Given the description of an element on the screen output the (x, y) to click on. 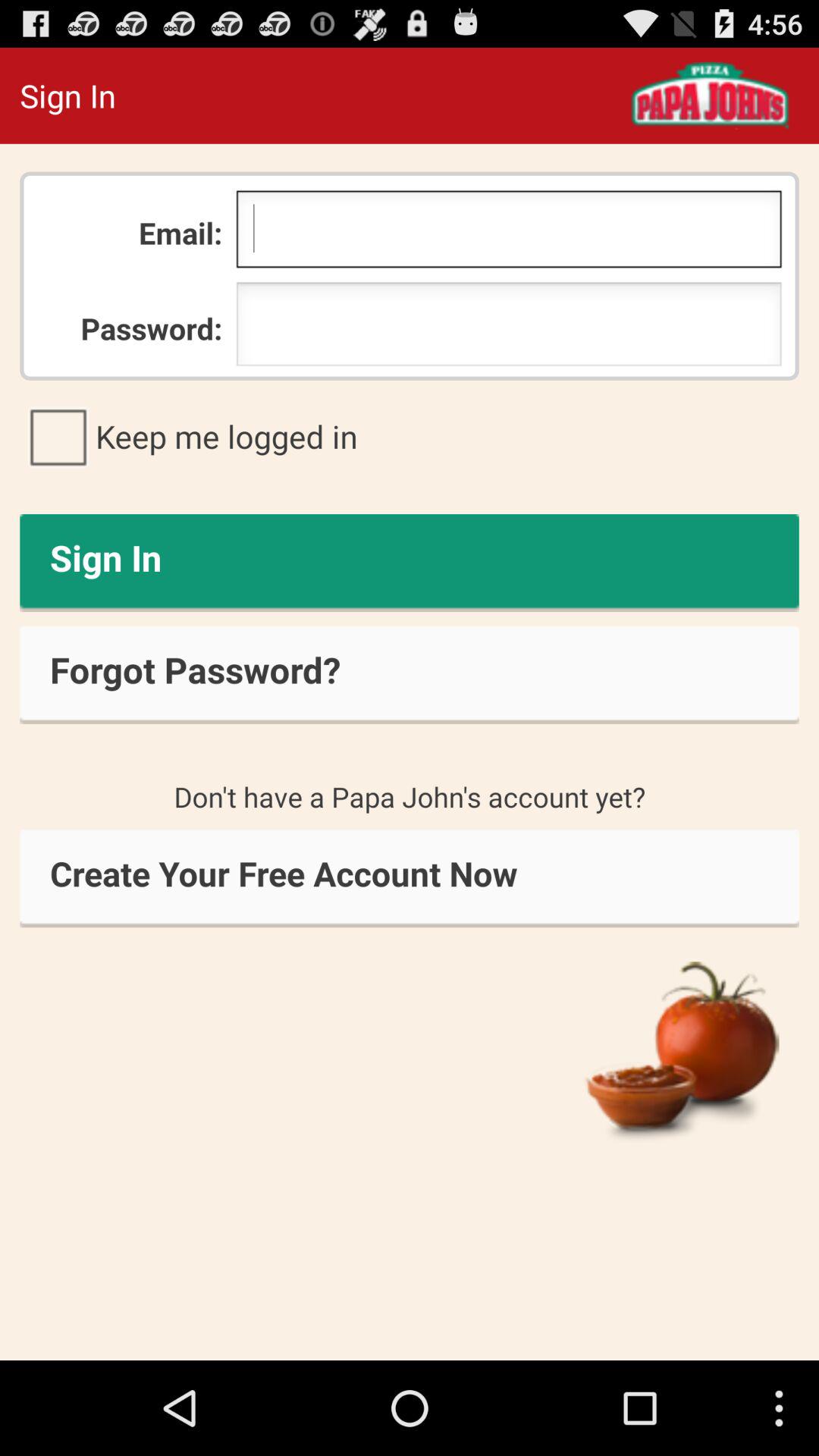
scroll to keep me logged item (409, 436)
